Given the description of an element on the screen output the (x, y) to click on. 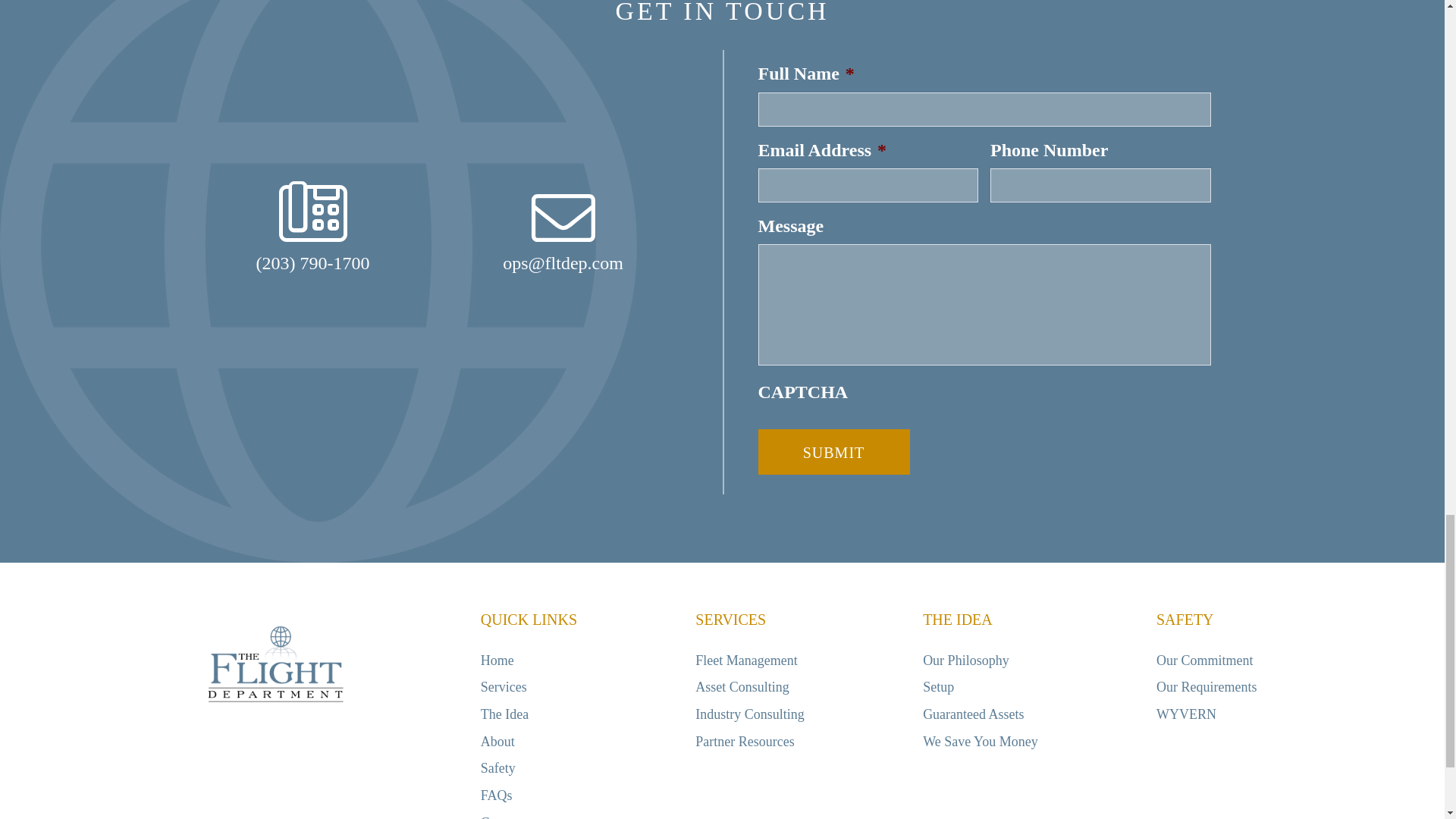
The Idea (504, 713)
About (497, 741)
Submit (834, 452)
Call us Today (313, 225)
Services (503, 686)
Go Home (274, 664)
Home (496, 660)
Submit (834, 452)
Safety (497, 767)
Send us an Email today (563, 232)
Fleet Management (745, 660)
Contact (501, 816)
FAQs (496, 795)
